Given the description of an element on the screen output the (x, y) to click on. 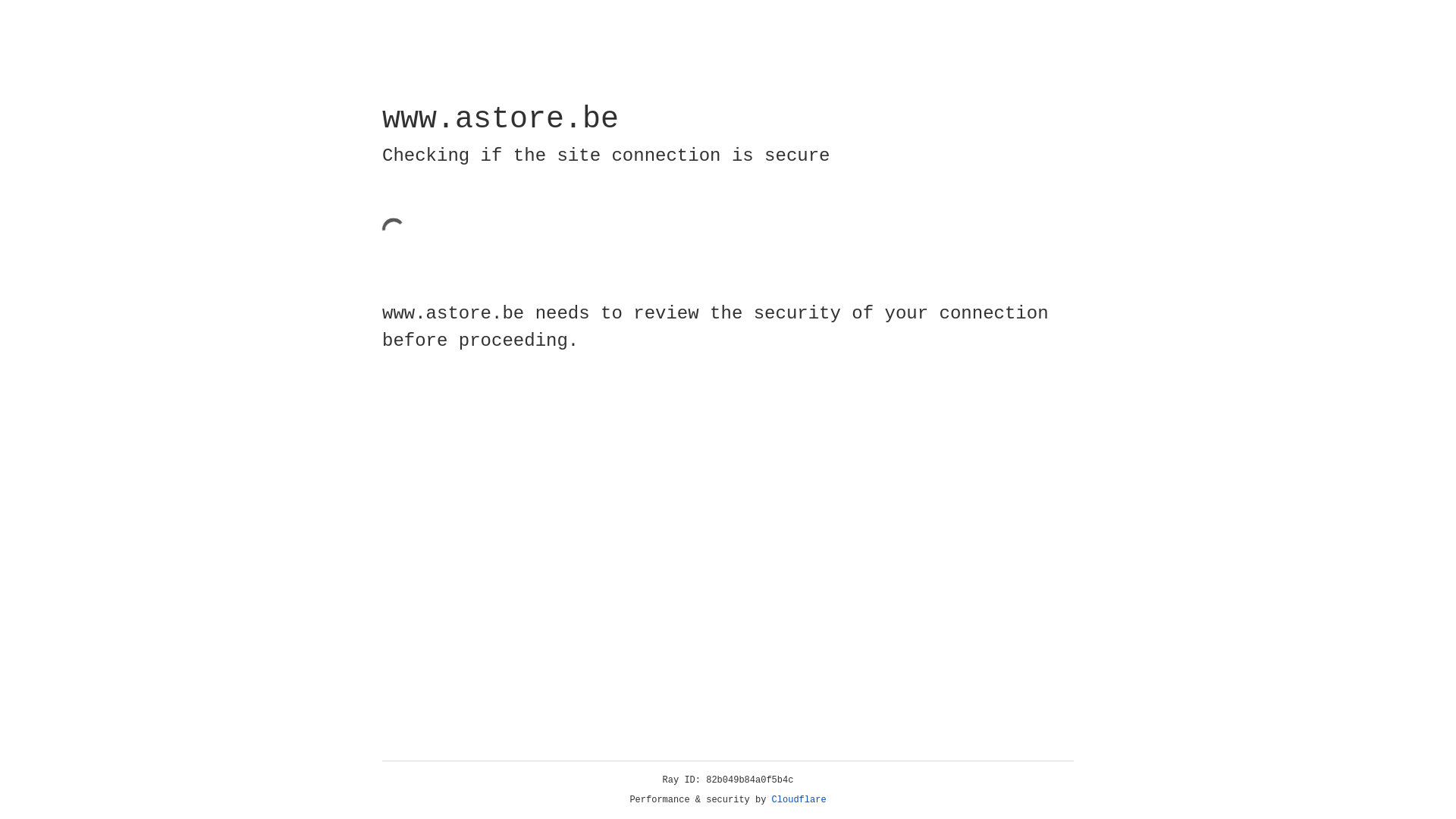
Cloudflare Element type: text (798, 799)
